Given the description of an element on the screen output the (x, y) to click on. 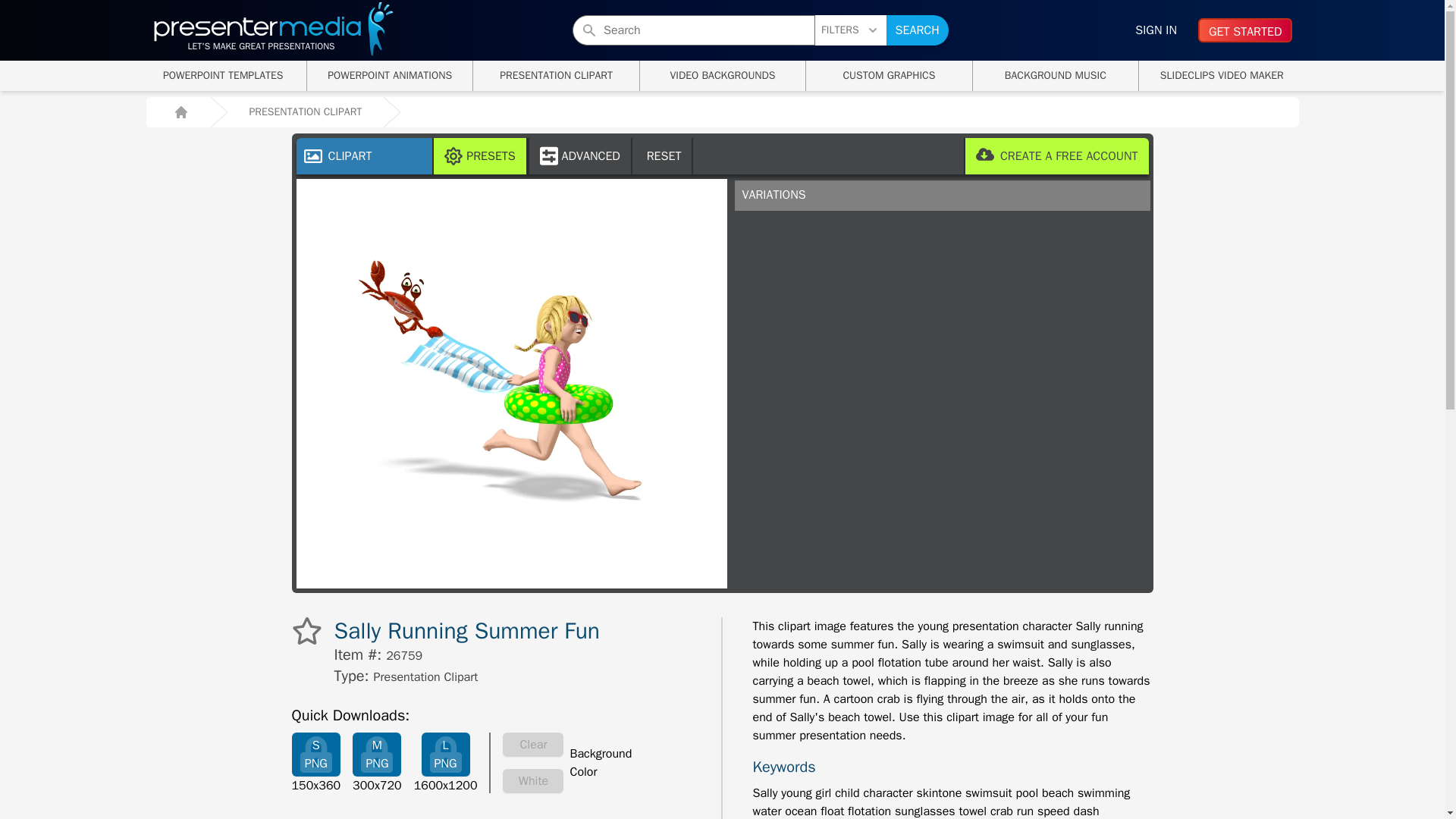
SIGN IN (222, 75)
SEARCH (1155, 30)
Sign Up (917, 30)
Preset Colors and Filters (1055, 156)
LET'S MAKE GREAT PRESENTATIONS (479, 156)
Reset Filter Settings (272, 36)
Sign in to add to favorites (389, 75)
Clipart (662, 156)
